Given the description of an element on the screen output the (x, y) to click on. 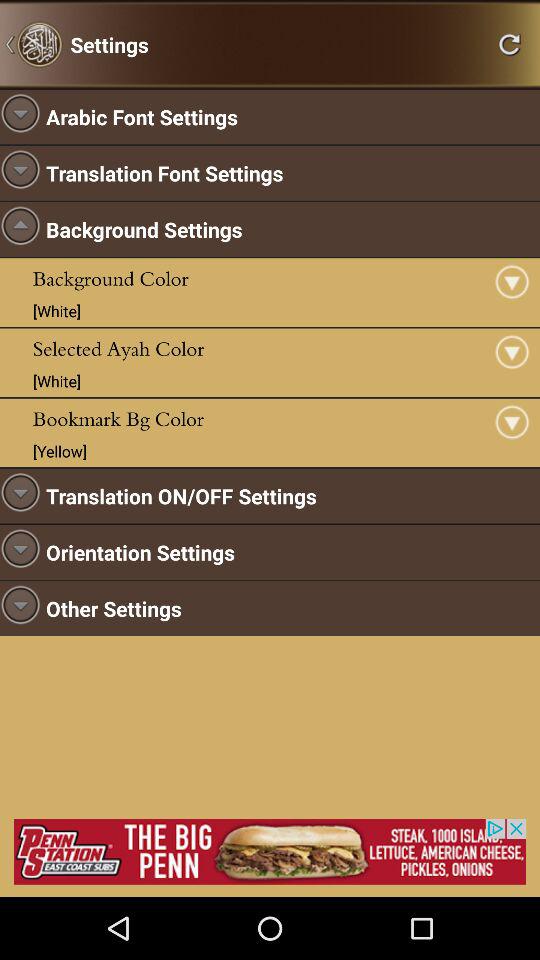
show outside advertisement (270, 851)
